Given the description of an element on the screen output the (x, y) to click on. 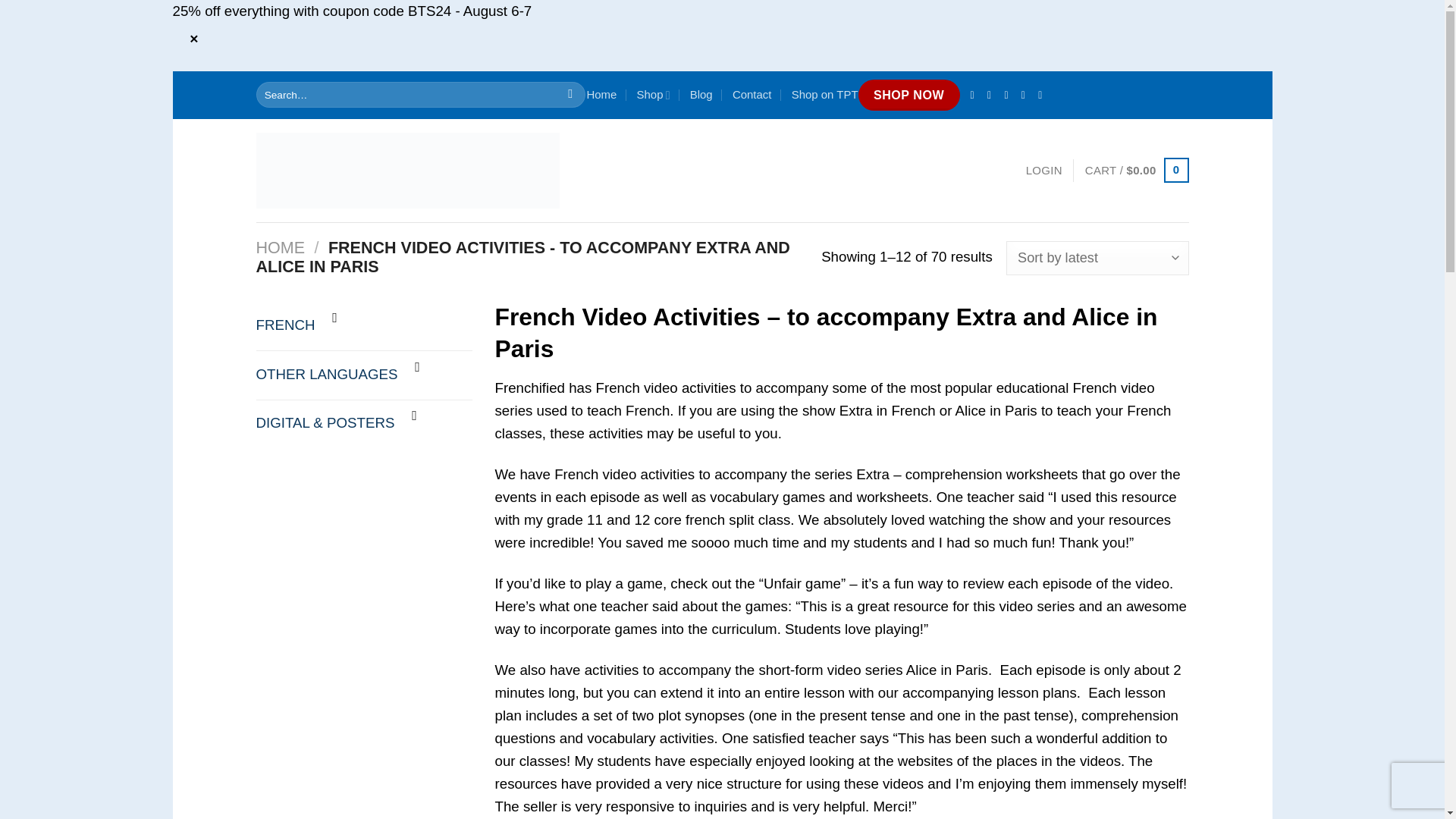
Shop (653, 94)
SHOP NOW (909, 94)
Contact (751, 94)
Home (600, 94)
Search (570, 94)
FRENCH (285, 325)
Login (1044, 170)
Shop on TPT (825, 94)
HOME (280, 248)
